Given the description of an element on the screen output the (x, y) to click on. 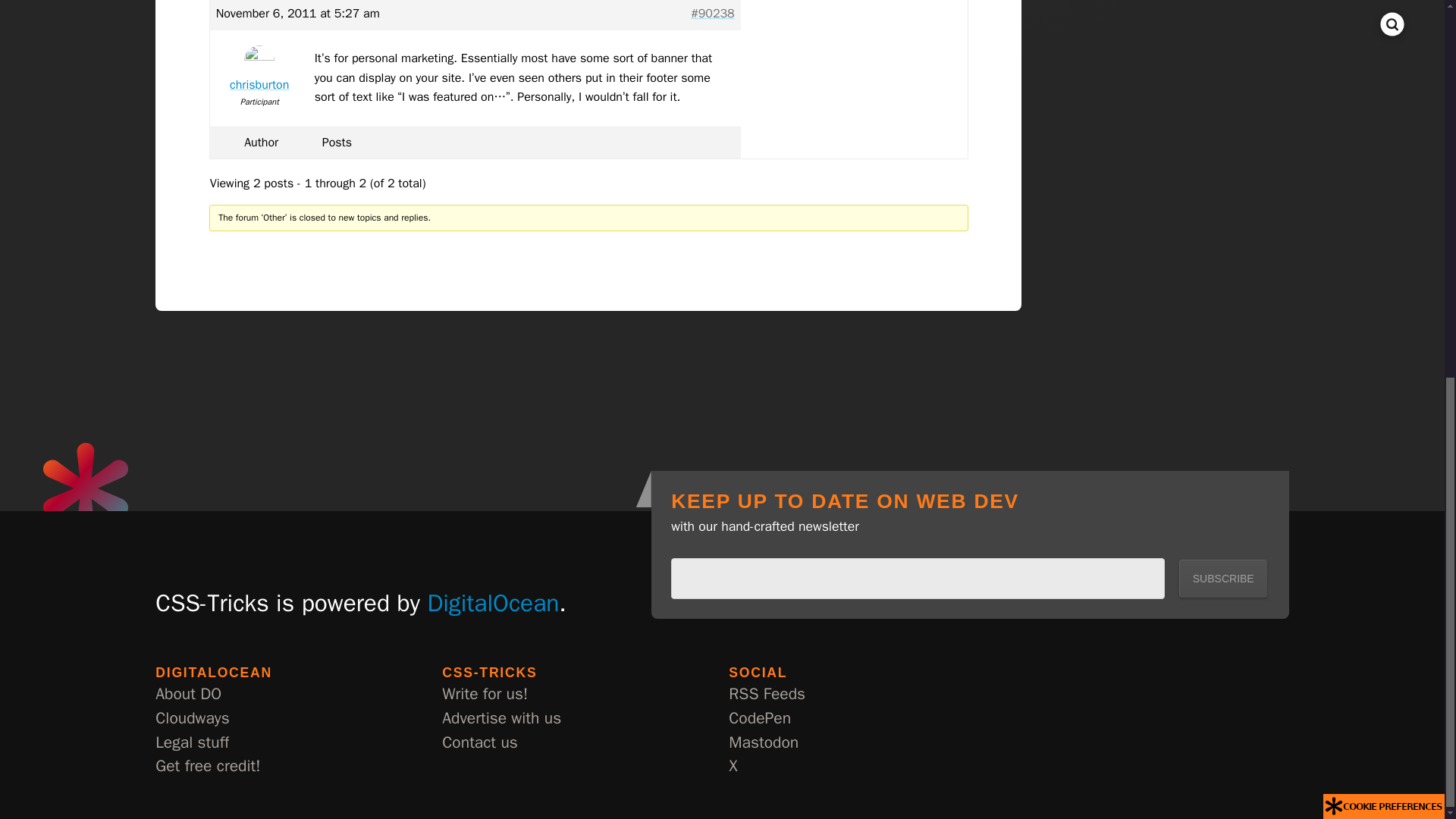
Get free credit! (207, 766)
CodePen (759, 718)
chrisburton (258, 72)
RSS Feeds (767, 694)
About DO (188, 694)
Write for us! (484, 694)
Advertise with us (501, 718)
Contact us (480, 743)
View chrisburton's profile (258, 72)
SUBSCRIBE (1222, 578)
